Given the description of an element on the screen output the (x, y) to click on. 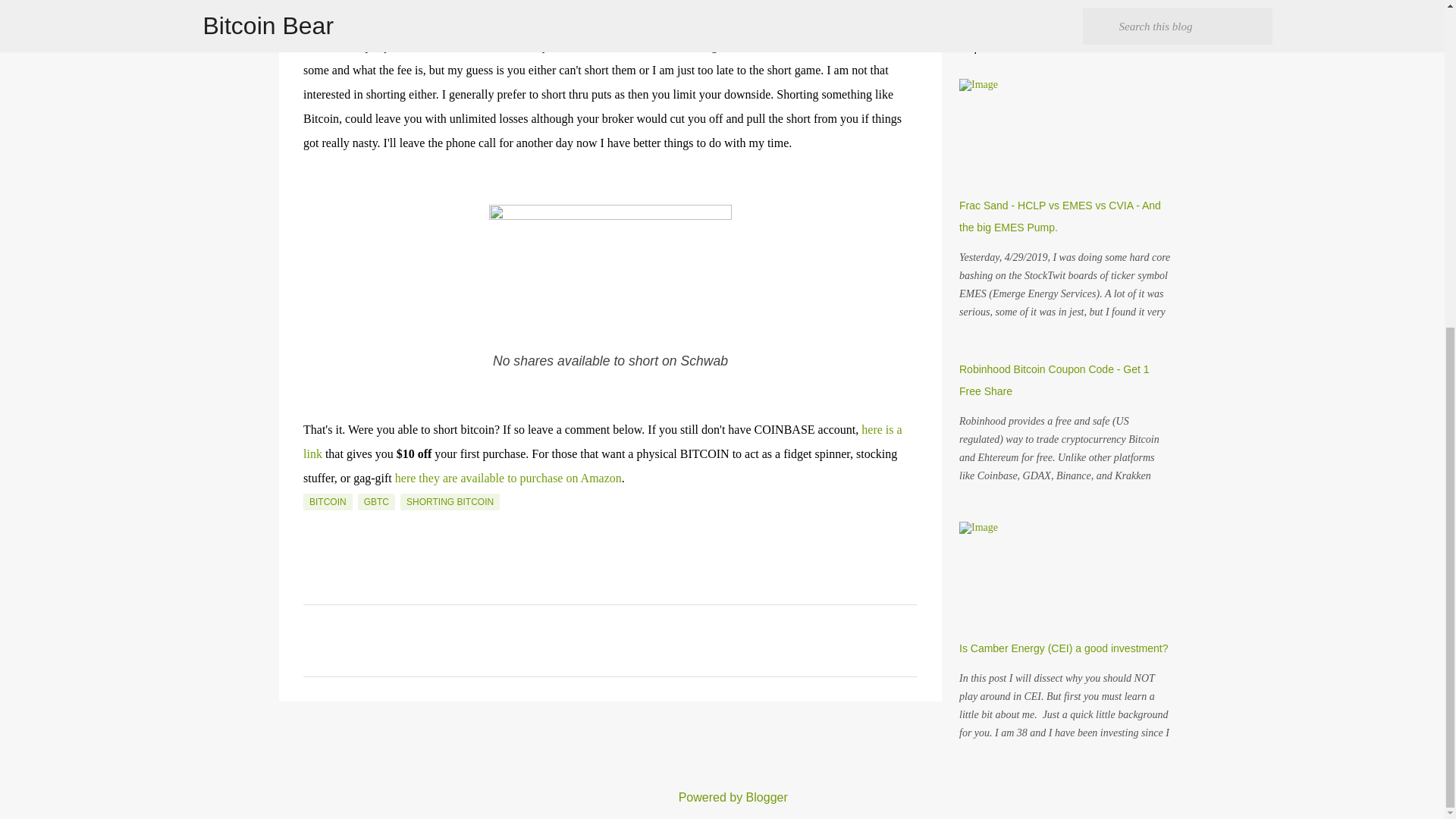
Robinhood Bitcoin Coupon Code - Get 1 Free Share (1054, 380)
BITCOIN (327, 501)
GBTC (376, 501)
here is a link (602, 441)
Powered by Blogger (721, 797)
SHORTING BITCOIN (449, 501)
Frac Sand - HCLP vs EMES vs CVIA - And the big EMES Pump. (1059, 216)
here they are available to purchase on Amazon (507, 477)
